Given the description of an element on the screen output the (x, y) to click on. 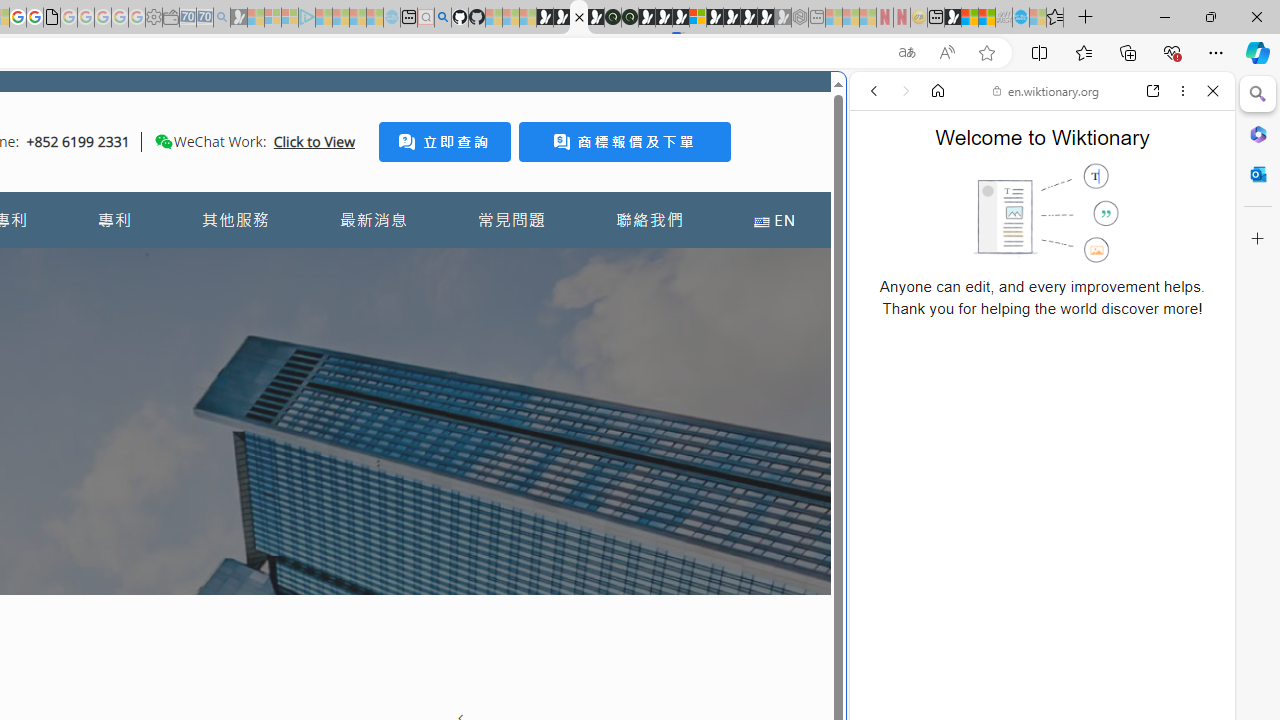
Frequently visited (418, 265)
